Given the description of an element on the screen output the (x, y) to click on. 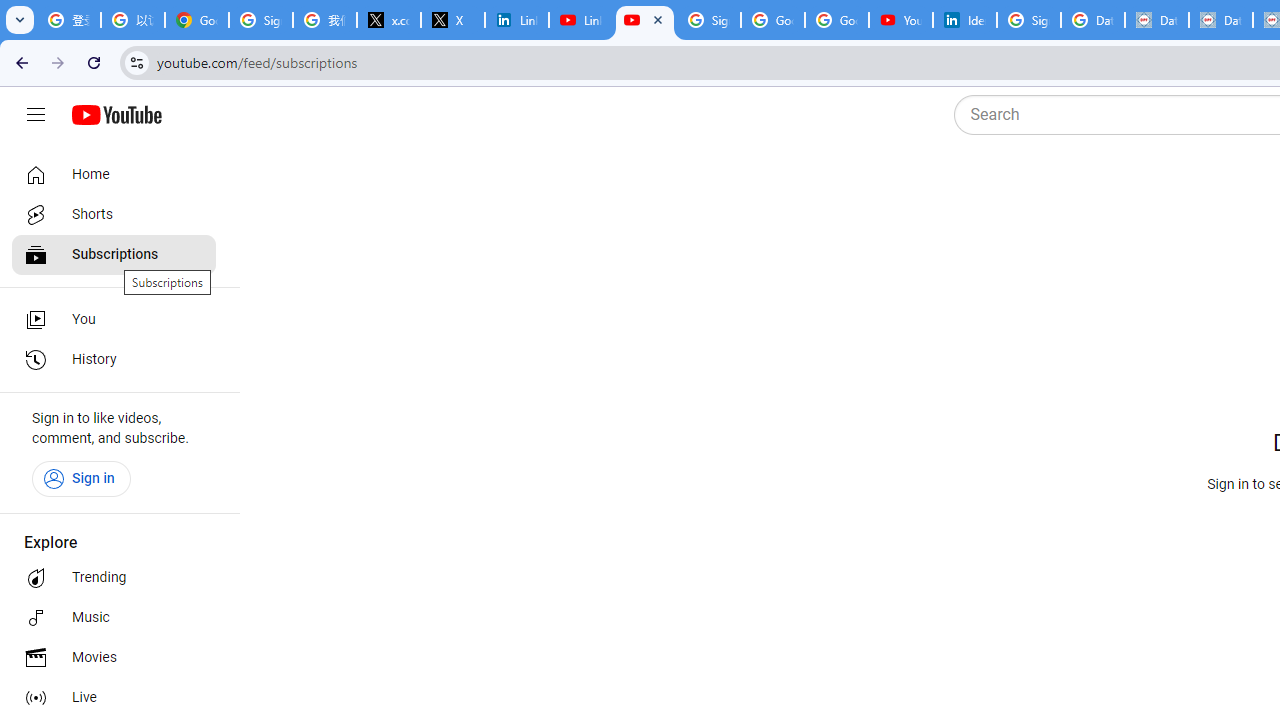
Data Privacy Framework (1157, 20)
LinkedIn - YouTube (581, 20)
Subscriptions - YouTube (645, 20)
Guide (35, 115)
Data Privacy Framework (1221, 20)
History (113, 359)
